Given the description of an element on the screen output the (x, y) to click on. 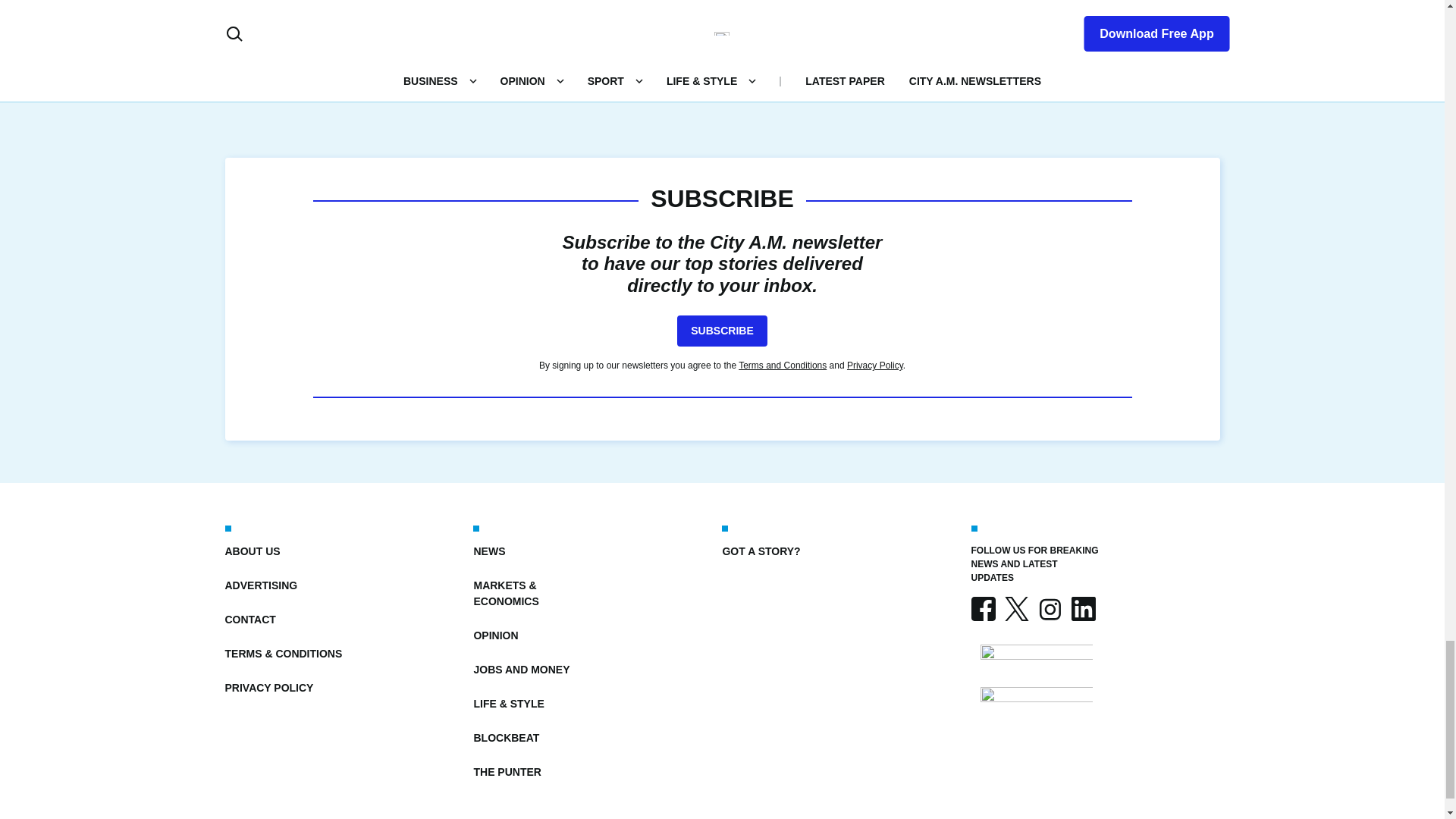
X (1015, 608)
LINKEDIN (1082, 608)
INSTAGRAM (1048, 608)
FACEBOOK (982, 608)
